Given the description of an element on the screen output the (x, y) to click on. 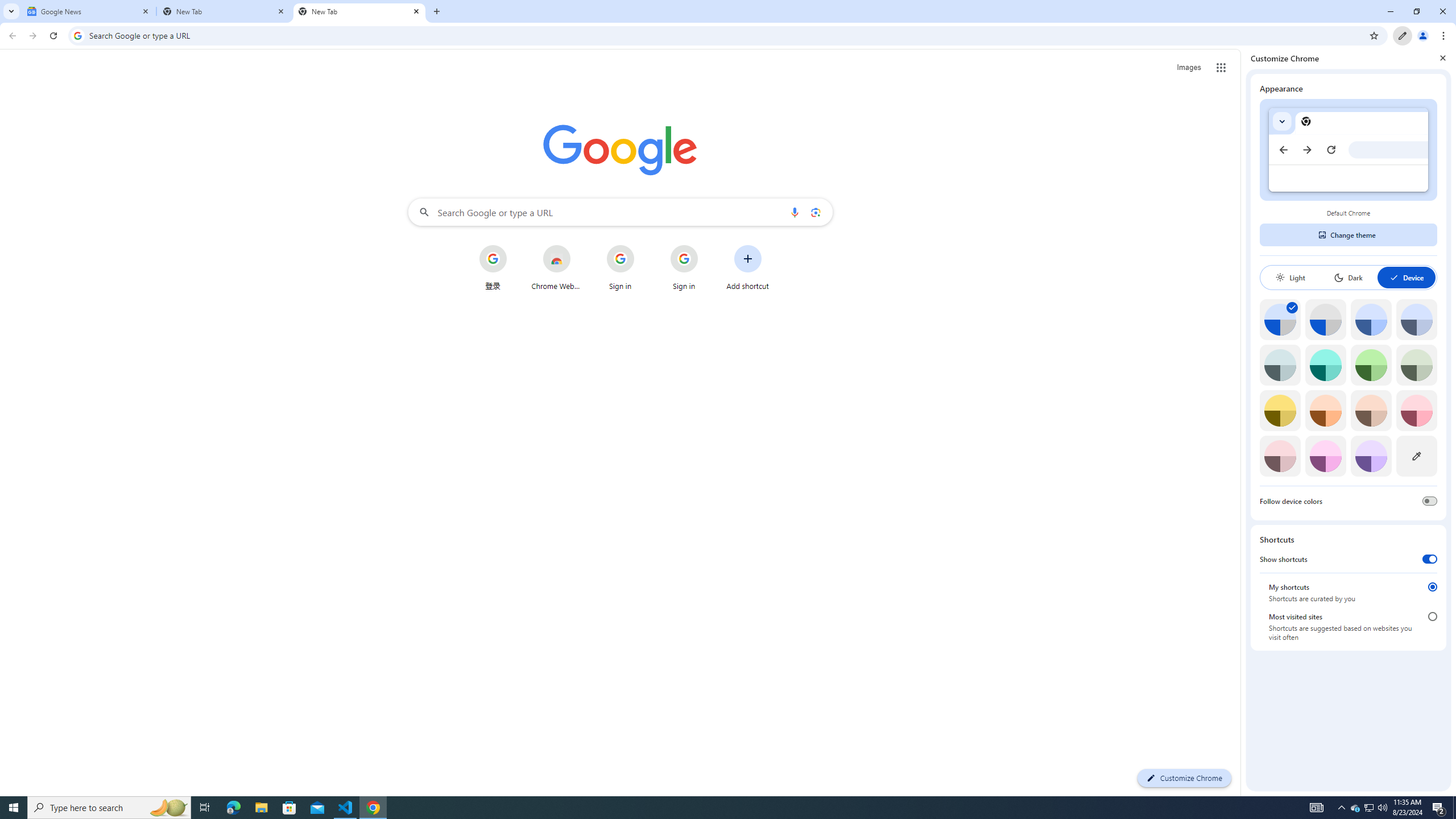
Device (1406, 277)
Change theme (1348, 234)
Grey default color (1325, 318)
Blue (1371, 318)
Custom color (1416, 455)
New Tab (359, 11)
Google News (88, 11)
More actions for Chrome Web Store shortcut (579, 245)
